Given the description of an element on the screen output the (x, y) to click on. 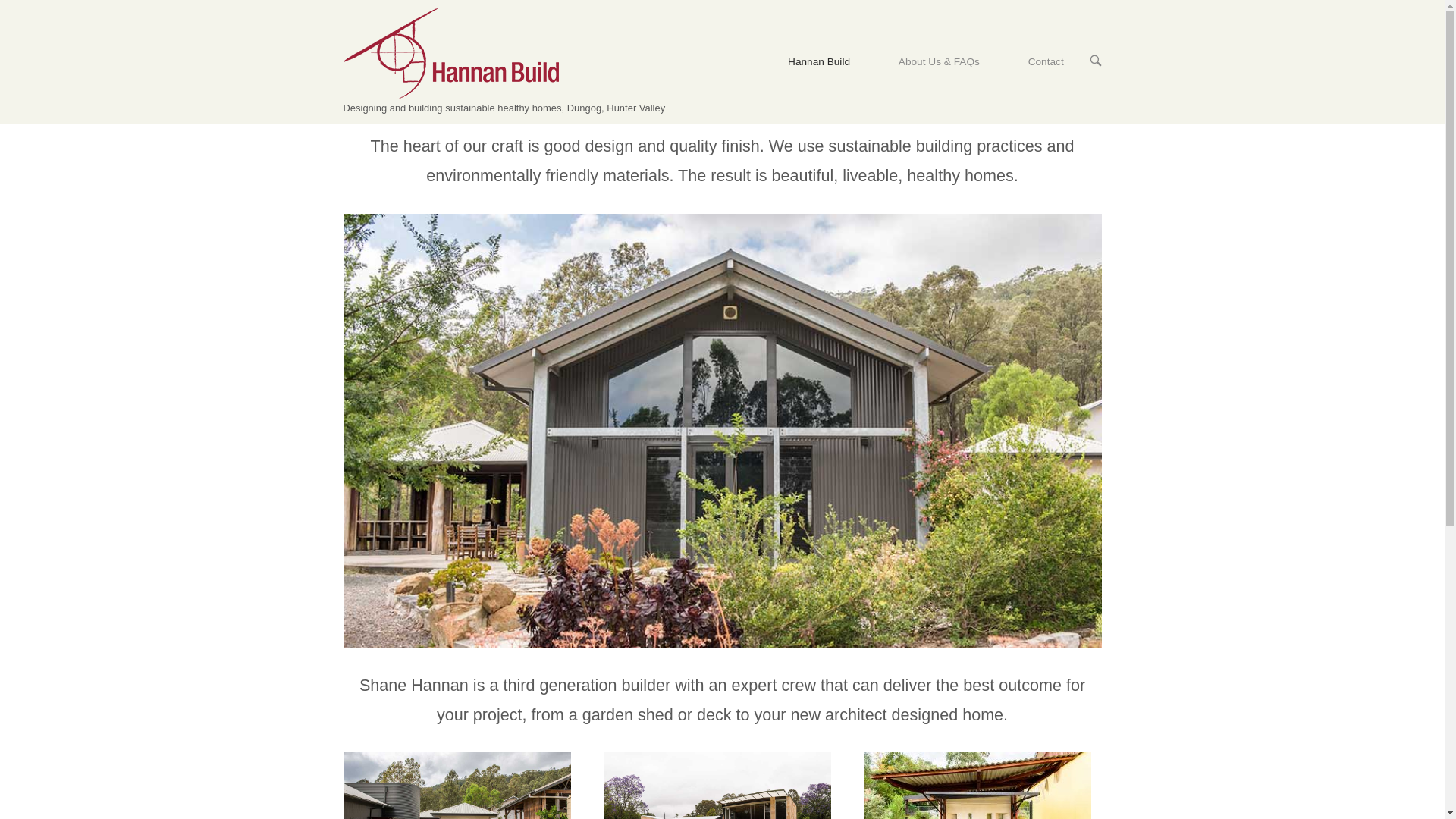
OPEN SEARCH BAR Element type: text (1094, 61)
About Us & FAQs Element type: text (938, 61)
Hannan Build Element type: text (818, 61)
Skip to content Element type: text (0, 0)
Home Element type: text (450, 52)
Contact Element type: text (1045, 61)
